Given the description of an element on the screen output the (x, y) to click on. 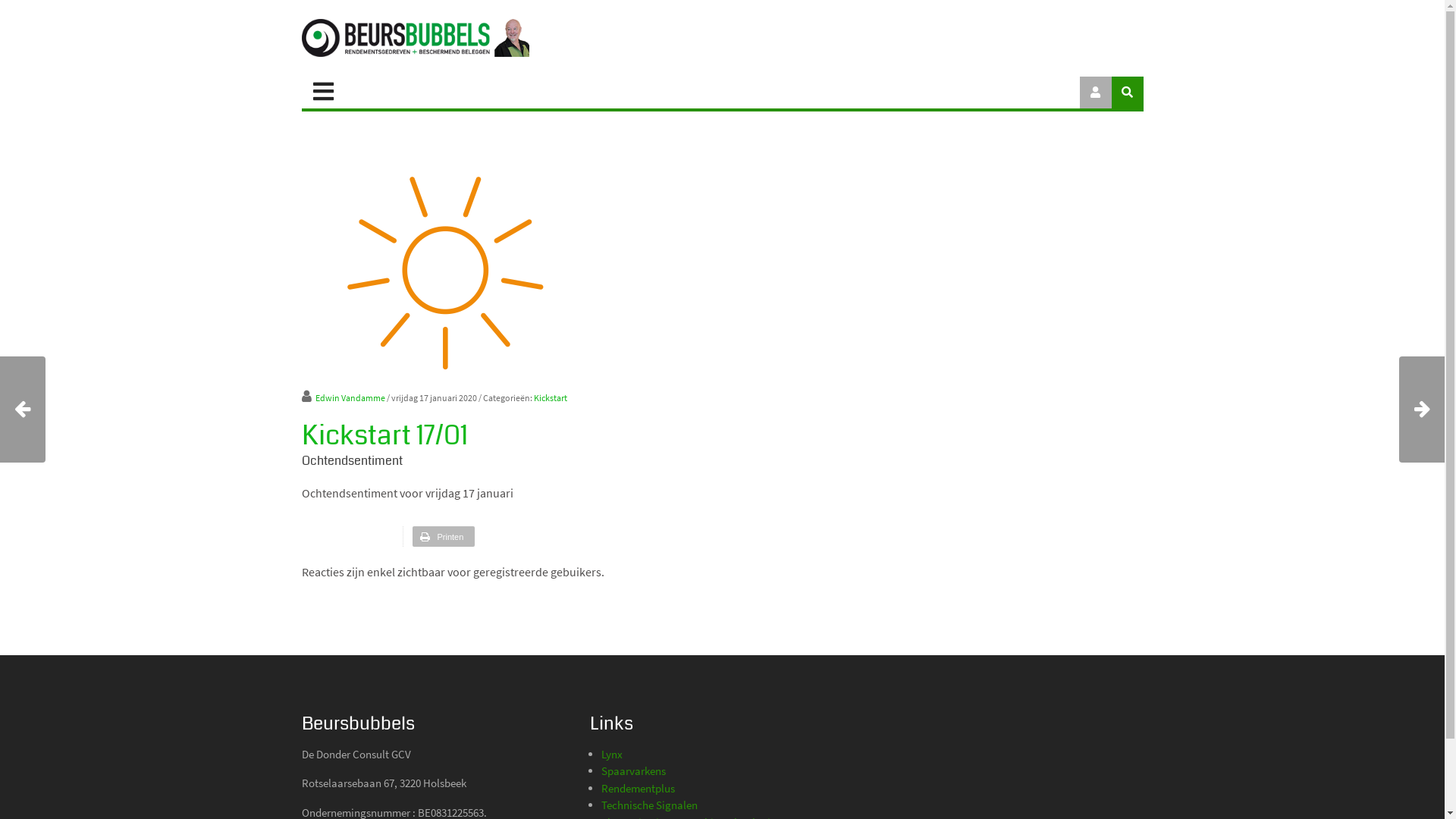
Spaarvarkens Element type: text (632, 770)
Technische Signalen Element type: text (648, 804)
Beursbubbels Element type: hover (415, 37)
Rendementplus Element type: text (637, 788)
Edwin Vandamme Element type: text (343, 397)
Lynx Element type: text (610, 753)
Kickstart Element type: text (550, 397)
